Given the description of an element on the screen output the (x, y) to click on. 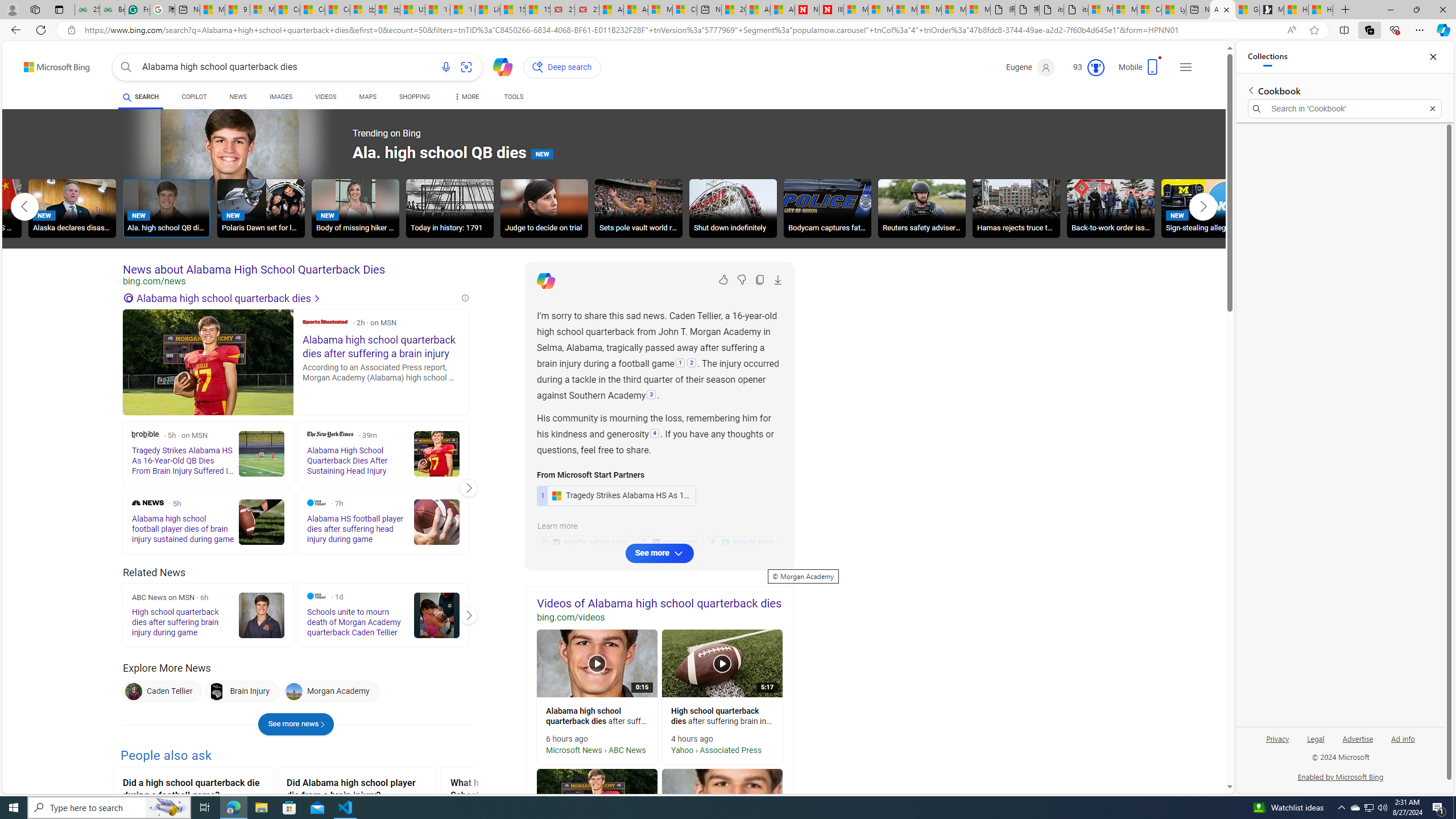
Search using voice (445, 66)
1:  (679, 363)
bing.com/news (295, 281)
Videos of Alabama high school quarterback dies (660, 603)
Search more (1204, 753)
Judge to decide on trial (544, 207)
Sets pole vault world record (638, 209)
21 Movies That Outdid the Books They Were Based On (586, 9)
SEARCH (140, 96)
